Given the description of an element on the screen output the (x, y) to click on. 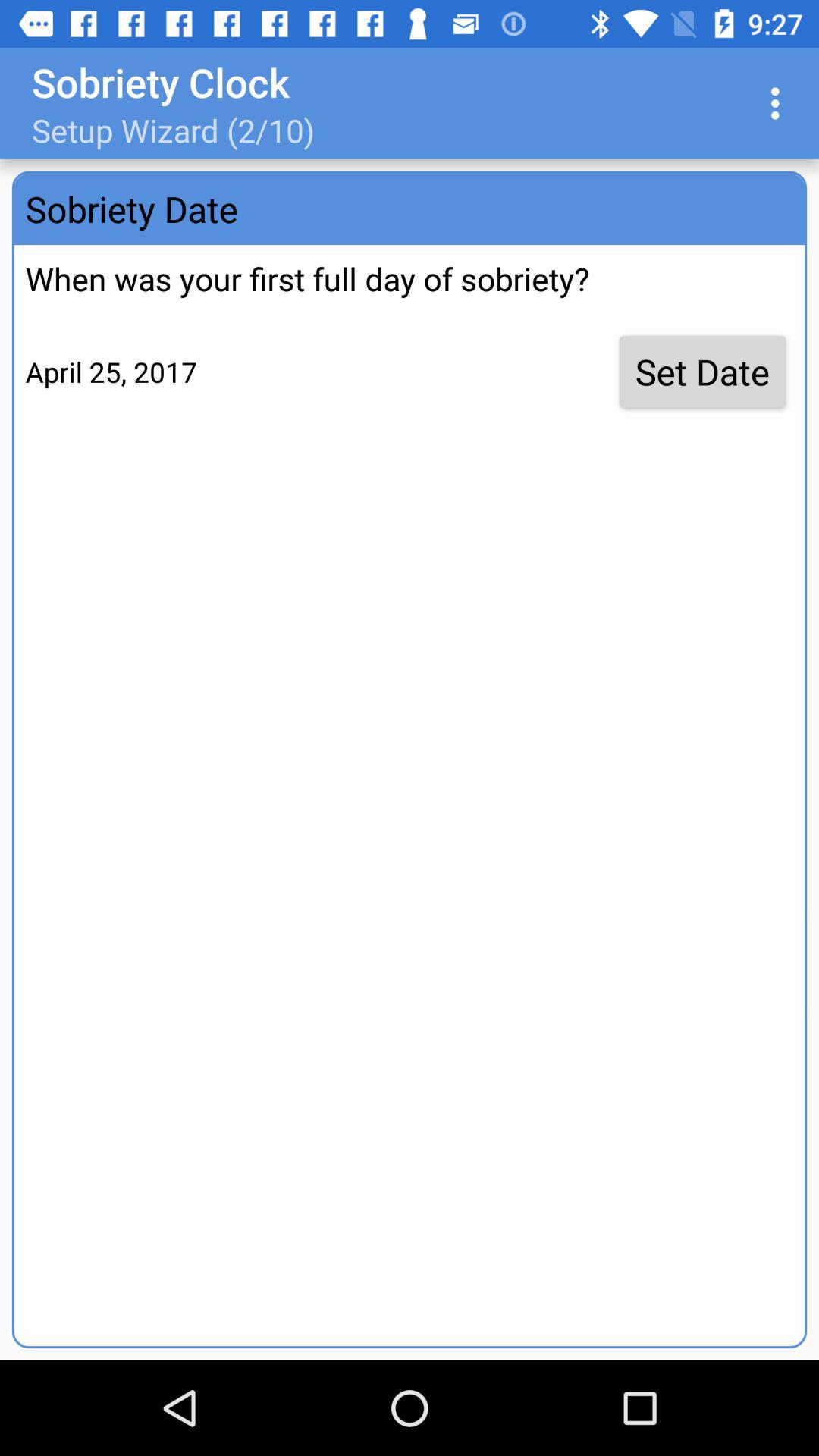
press the item to the right of april 25, 2017 item (702, 371)
